Given the description of an element on the screen output the (x, y) to click on. 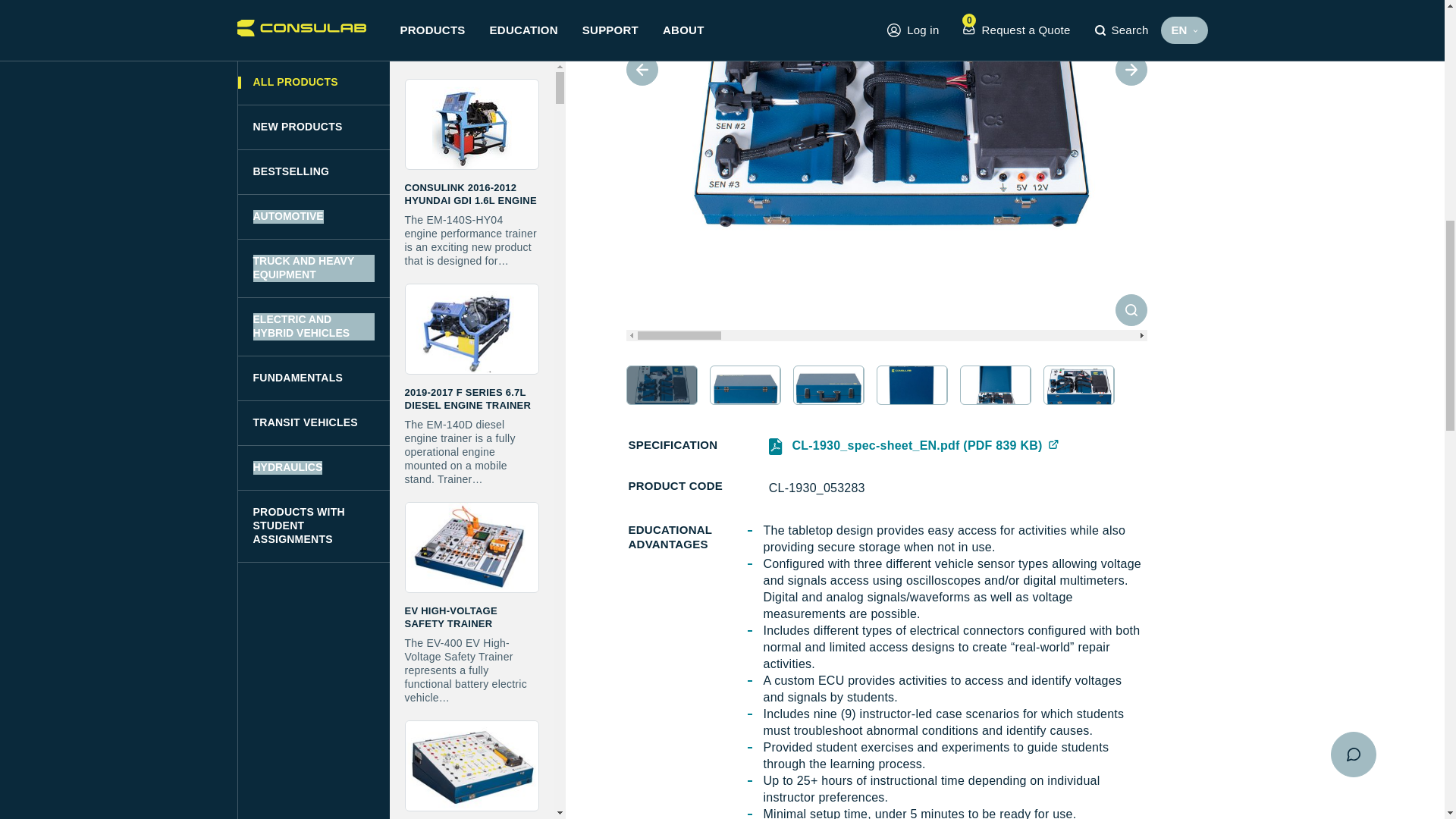
CONNECTOR TRAINER - CIRCUIT AND SIGNAL ACQUISITION (471, 690)
Interactive Demonstrative Electric Vehicle (471, 473)
Connector Trainer - circuit and signal acquisition (471, 690)
Ohm's law and DC circuits trainer (471, 17)
INTERACTIVE DEMONSTRATIVE ELECTRIC VEHICLE (471, 473)
OHM'S LAW AND DC CIRCUITS TRAINER (471, 17)
